Given the description of an element on the screen output the (x, y) to click on. 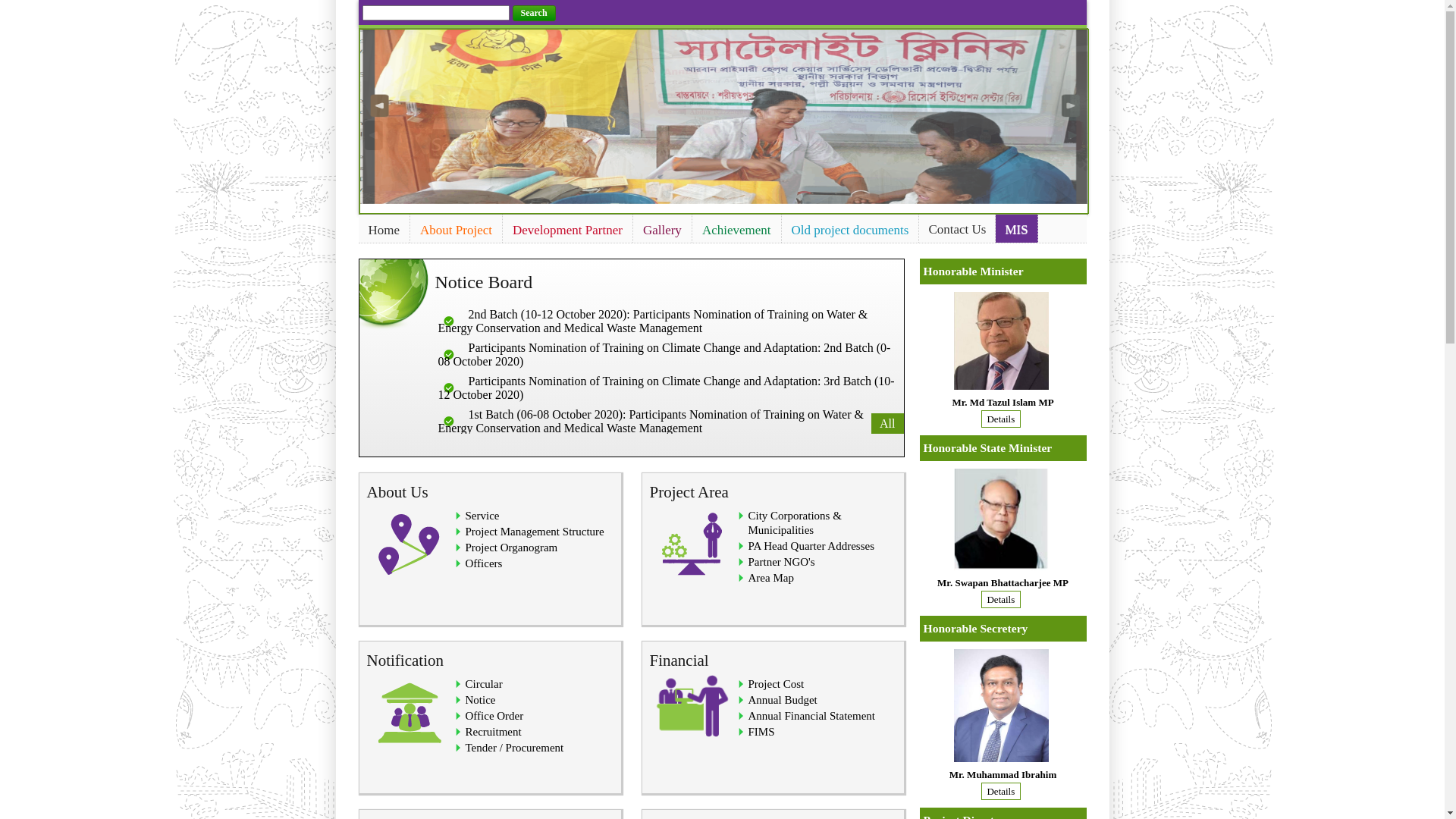
PA Head Quarter Addresses Element type: text (810, 545)
Project Management Structure Element type: text (534, 531)
Next Element type: text (1072, 114)
Details Element type: text (1002, 418)
Circular Element type: text (483, 683)
Area Map Element type: text (770, 577)
All Element type: text (887, 423)
Old project documents Element type: text (850, 230)
Service Element type: text (482, 515)
Contact Us Element type: text (956, 229)
Achievement Element type: text (736, 230)
Development Partner Element type: text (567, 230)
Gallery Element type: text (662, 230)
Details Element type: text (1002, 791)
MIS Element type: text (1015, 229)
Project Cost Element type: text (775, 683)
Project Organogram Element type: text (511, 547)
Annual Financial Statement Element type: text (810, 715)
City Corporations & Municipalities Element type: text (793, 522)
About Project Element type: text (456, 230)
Previous Element type: text (373, 114)
Details Element type: text (1002, 599)
Home Element type: text (383, 230)
Tender / Procurement Element type: text (514, 747)
Office Order Element type: text (494, 715)
Officers Element type: text (483, 563)
Recruitment Element type: text (493, 731)
Notice Element type: text (480, 699)
Search Element type: text (533, 13)
Annual Budget Element type: text (781, 699)
FIMS Element type: text (760, 731)
Partner NGO's Element type: text (780, 561)
